Given the description of an element on the screen output the (x, y) to click on. 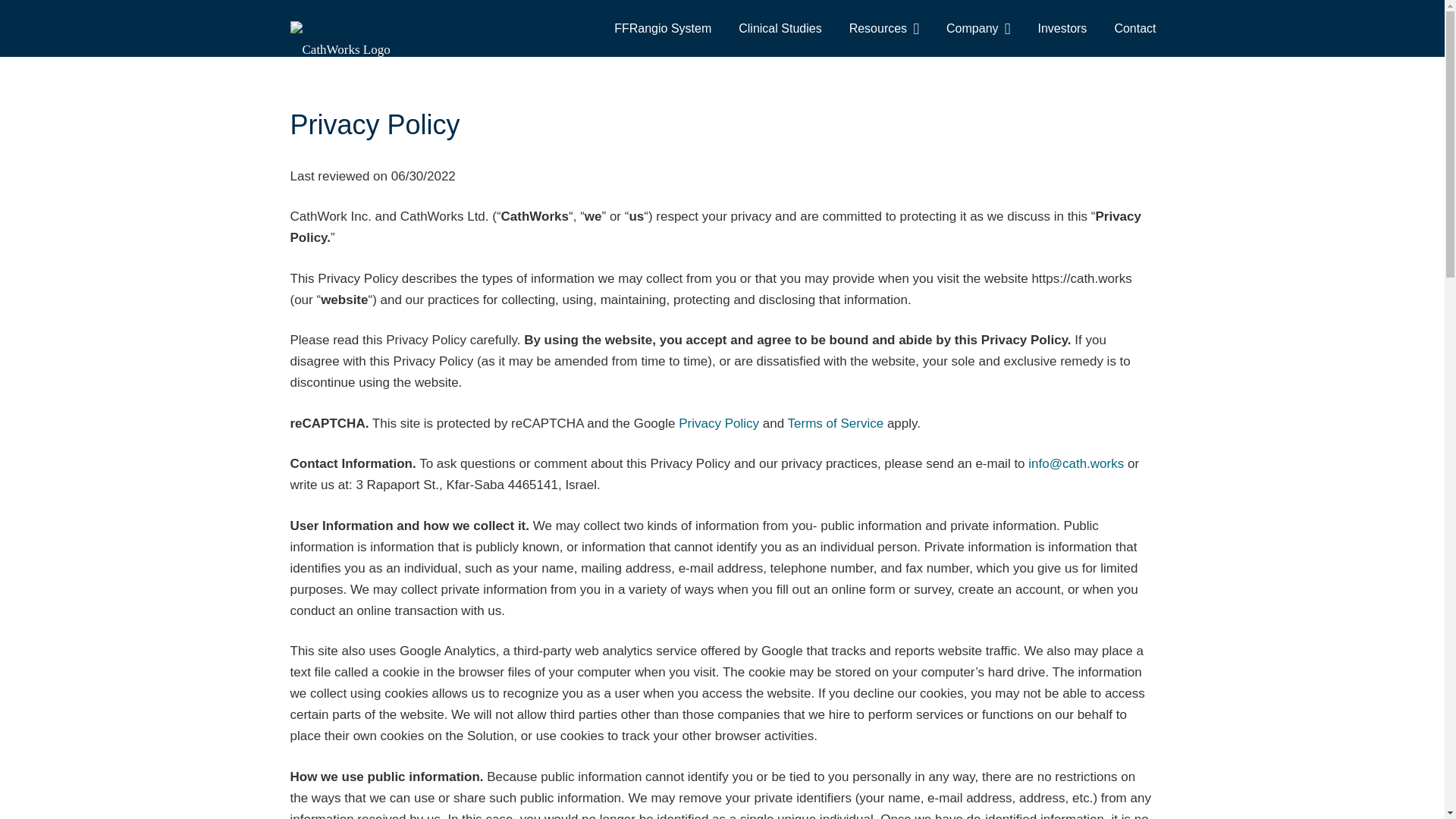
Investors (1061, 27)
Privacy Policy (718, 423)
Contact (1134, 27)
Terms of Service (835, 423)
Company (978, 27)
Resources (884, 27)
FFRangio System (662, 27)
Clinical Studies (779, 27)
